Given the description of an element on the screen output the (x, y) to click on. 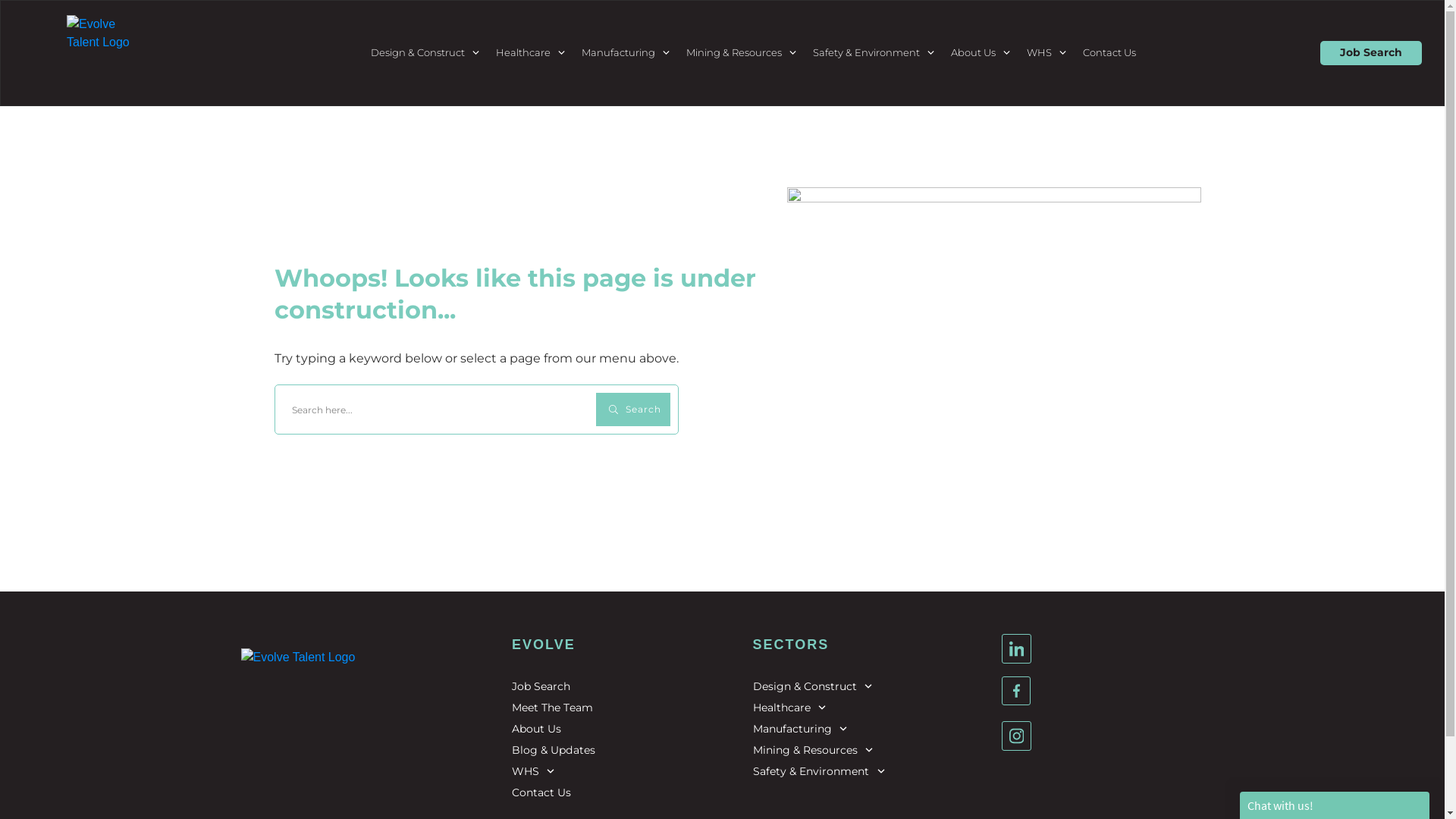
Website-404-Graphic Element type: hover (993, 348)
Manufacturing Element type: text (626, 52)
Mining & Resources Element type: text (741, 52)
Job Search Element type: text (1370, 52)
Search Element type: text (633, 409)
Contact Us Element type: text (541, 792)
Evolve Talent Logo Element type: hover (322, 728)
Meet The Team Element type: text (552, 707)
Mining & Resources Element type: text (813, 749)
Design & Construct Element type: text (425, 52)
Safety & Environment Element type: text (873, 52)
WHS Element type: text (533, 770)
Healthcare Element type: text (530, 52)
WHS Element type: text (1046, 52)
Design & Construct Element type: text (812, 685)
Healthcare Element type: text (789, 707)
Job Search Element type: text (541, 685)
Safety & Environment Element type: text (818, 770)
About Us Element type: text (536, 728)
Manufacturing Element type: text (800, 728)
Blog & Updates Element type: text (553, 749)
About Us Element type: text (980, 52)
Contact Us Element type: text (1108, 52)
